Given the description of an element on the screen output the (x, y) to click on. 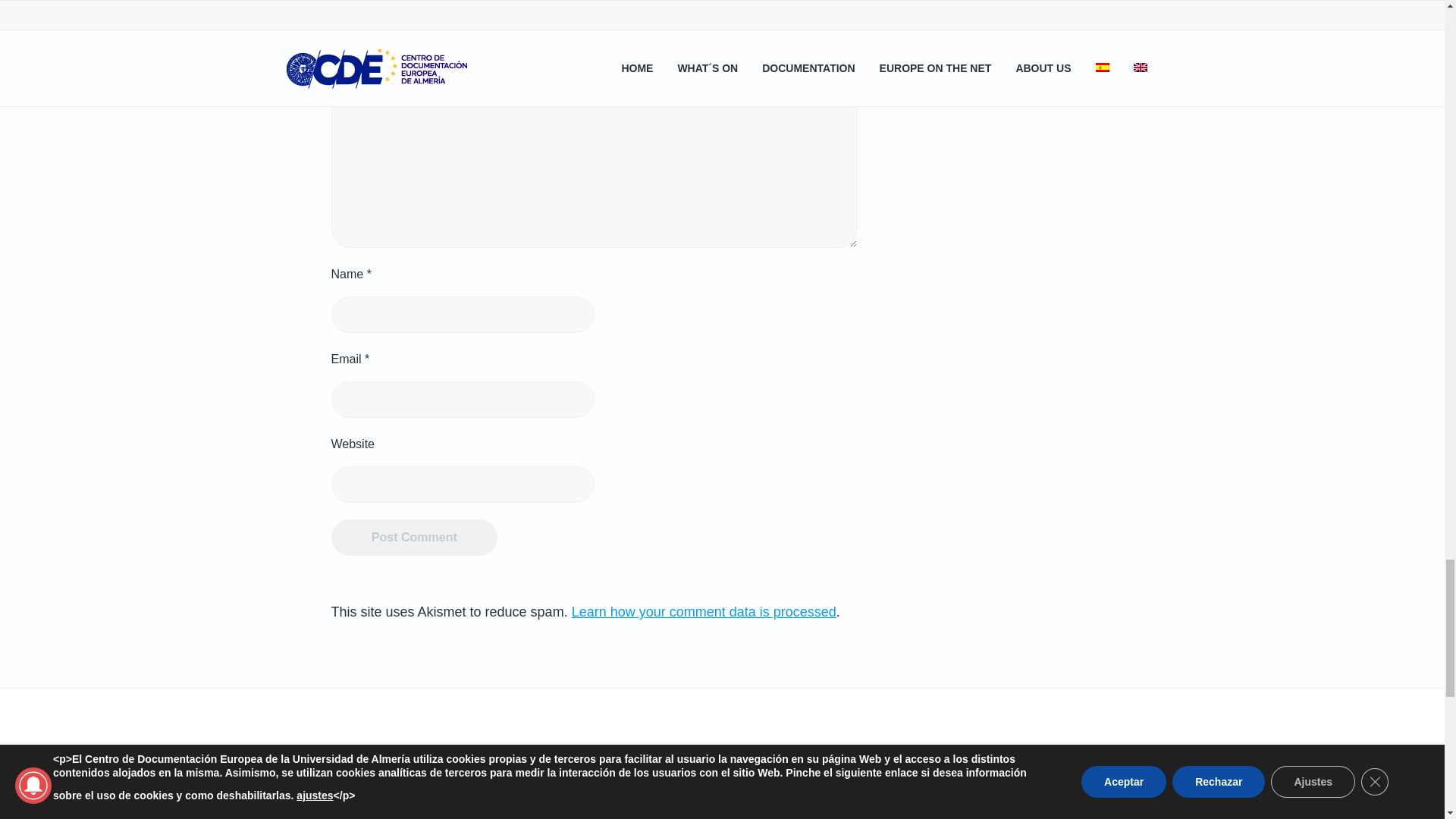
Post Comment (413, 537)
